Given the description of an element on the screen output the (x, y) to click on. 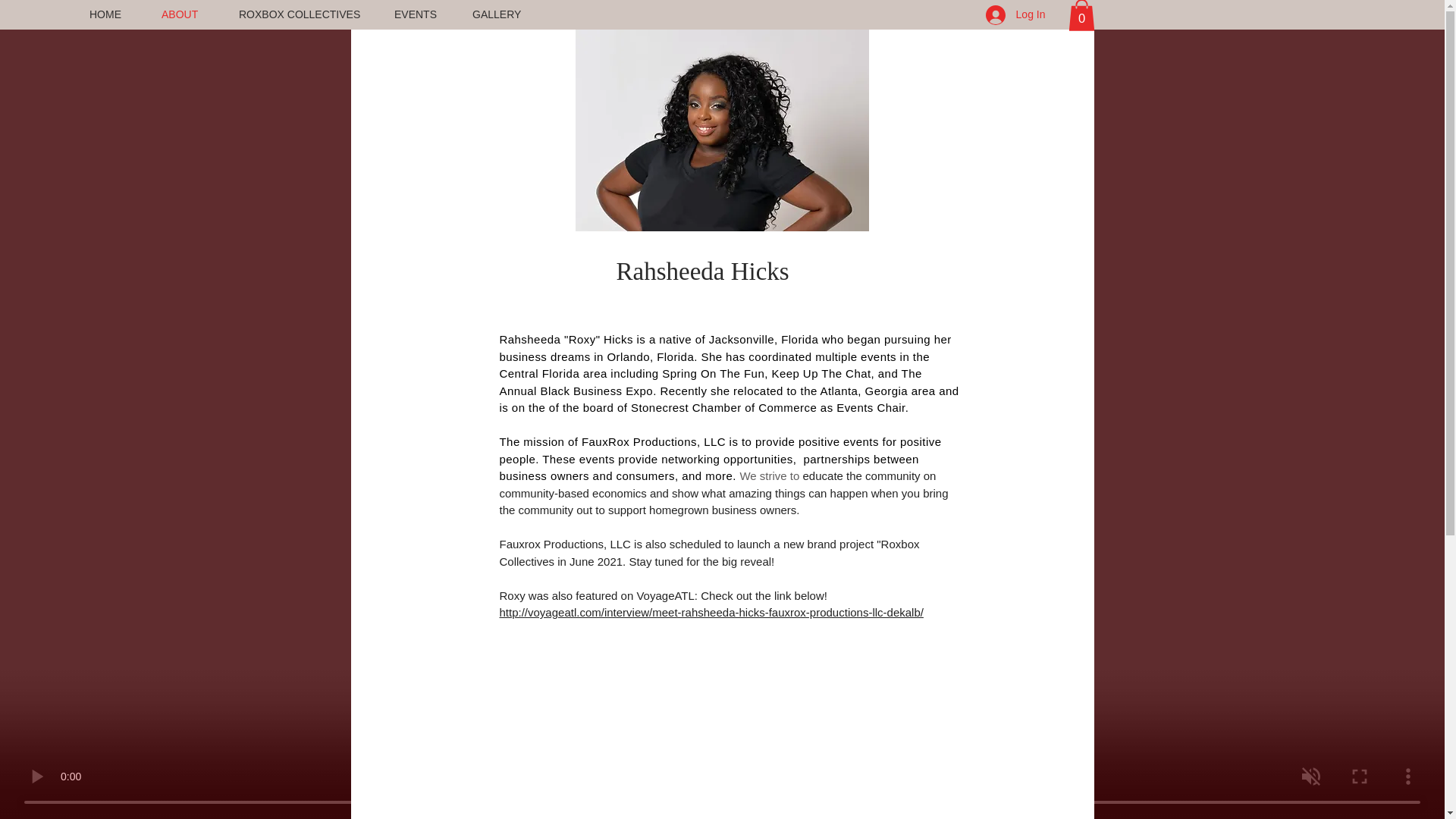
GALLERY (502, 14)
ROXBOX COLLECTIVES (304, 14)
Log In (1016, 14)
EVENTS (421, 14)
HOME (113, 14)
ABOUT (188, 14)
